Given the description of an element on the screen output the (x, y) to click on. 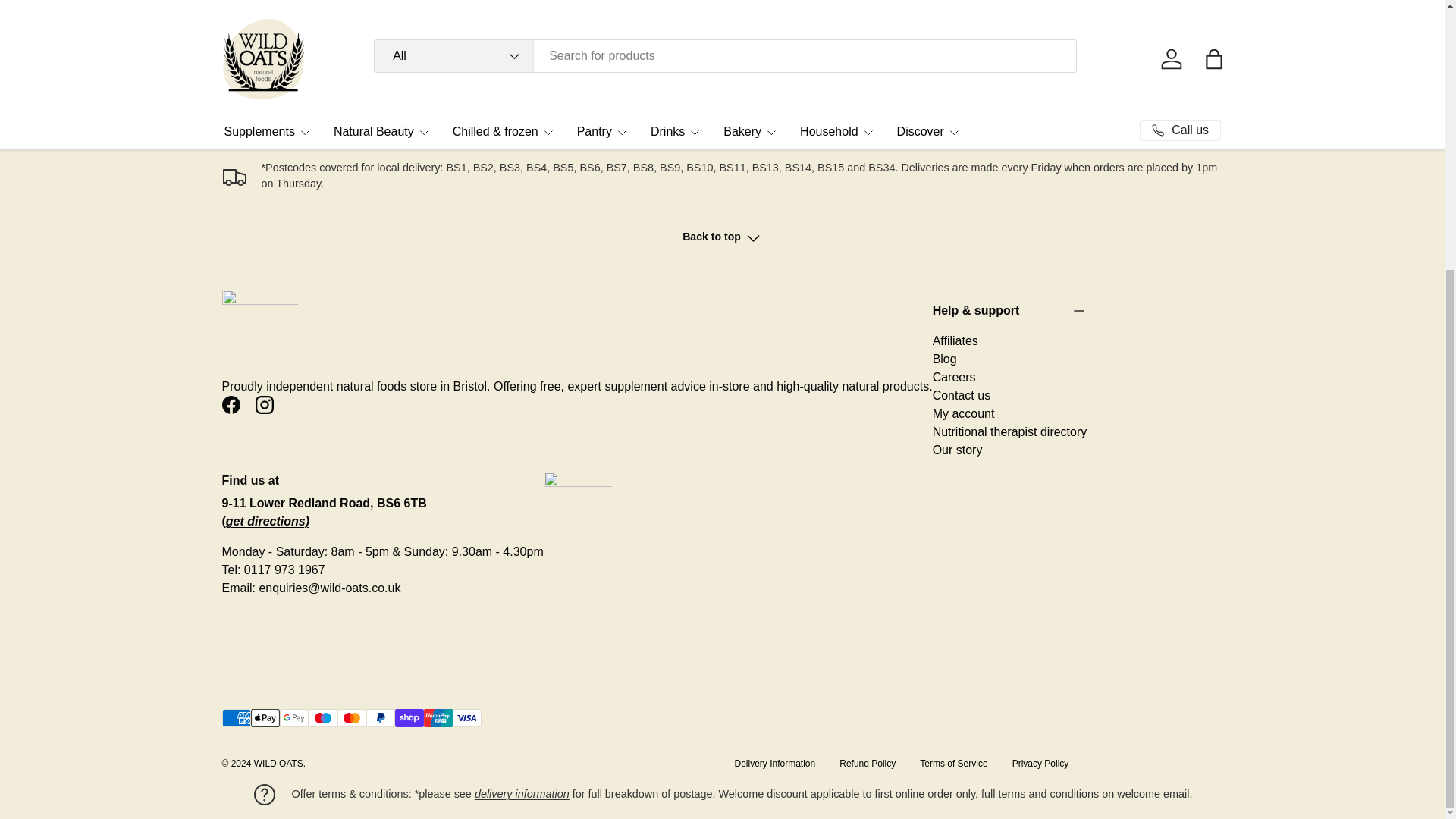
Google Pay (293, 718)
WILD OATS on Instagram (264, 404)
Shipping Policy (521, 793)
American Express (235, 718)
WILD OATS on Facebook (230, 404)
Apple Pay (264, 718)
